Given the description of an element on the screen output the (x, y) to click on. 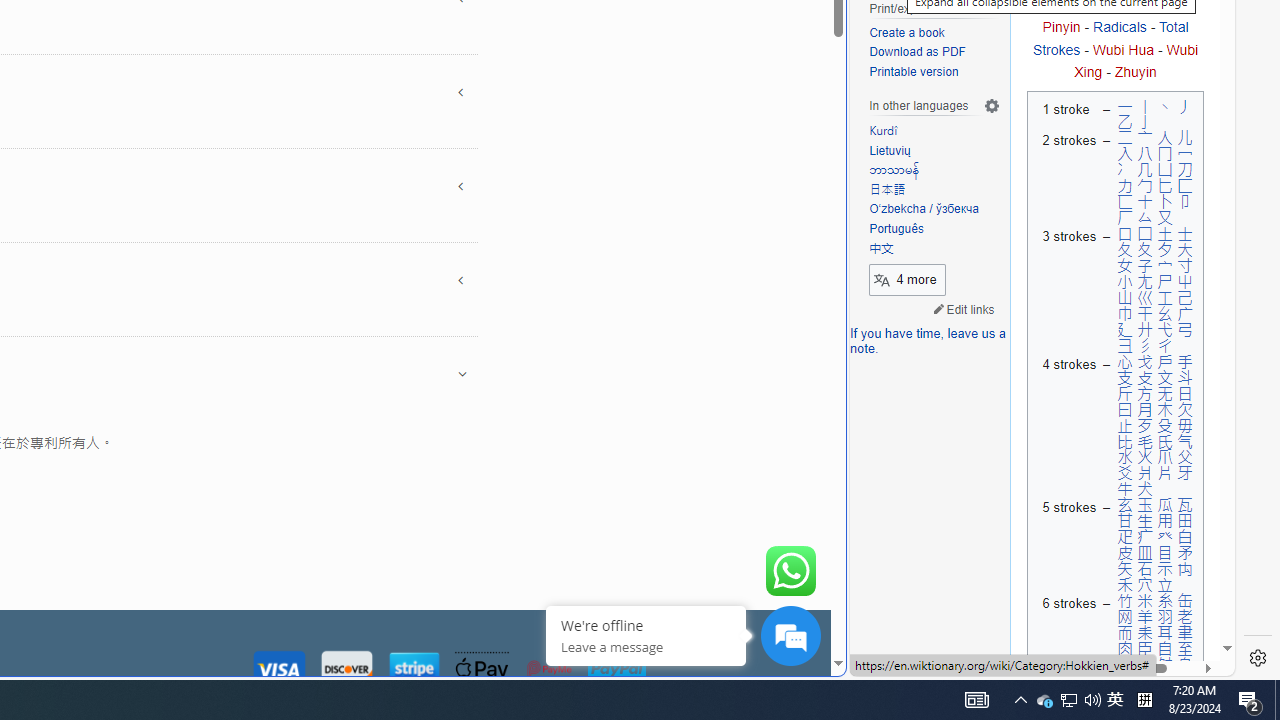
Printable version (934, 71)
Wubi Hua (1122, 49)
